Given the description of an element on the screen output the (x, y) to click on. 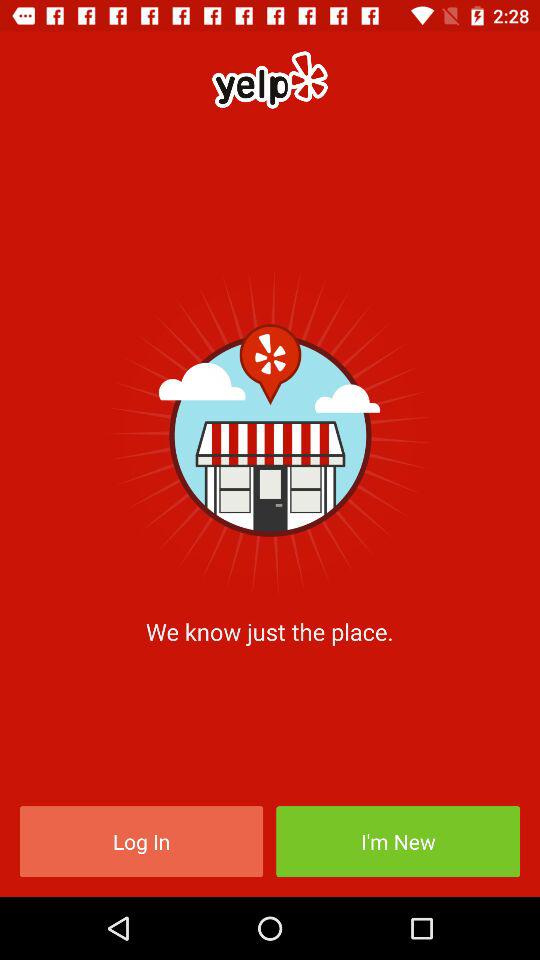
choose item next to i'm new (141, 841)
